Given the description of an element on the screen output the (x, y) to click on. 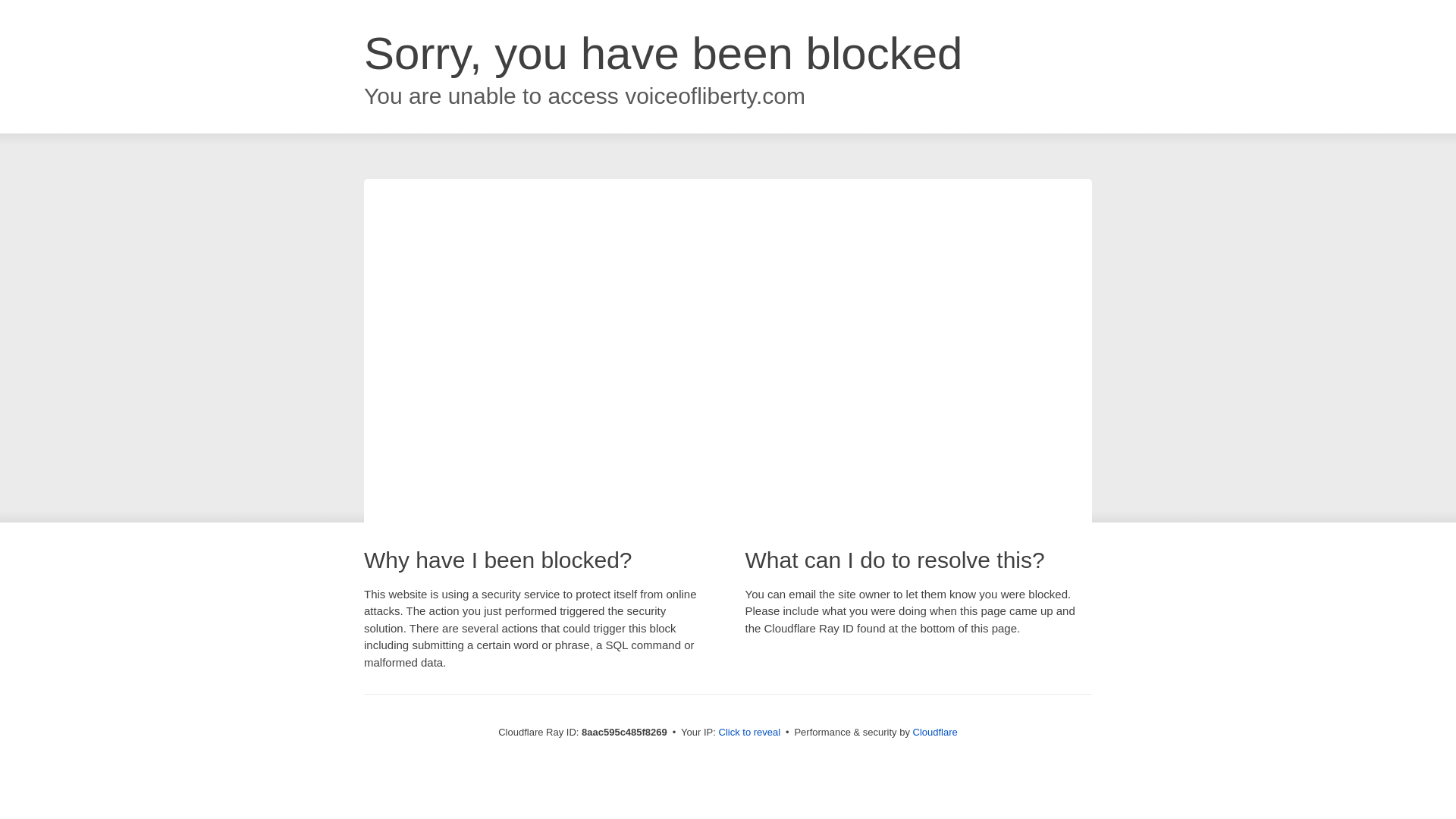
Cloudflare (935, 731)
Click to reveal (749, 732)
